Given the description of an element on the screen output the (x, y) to click on. 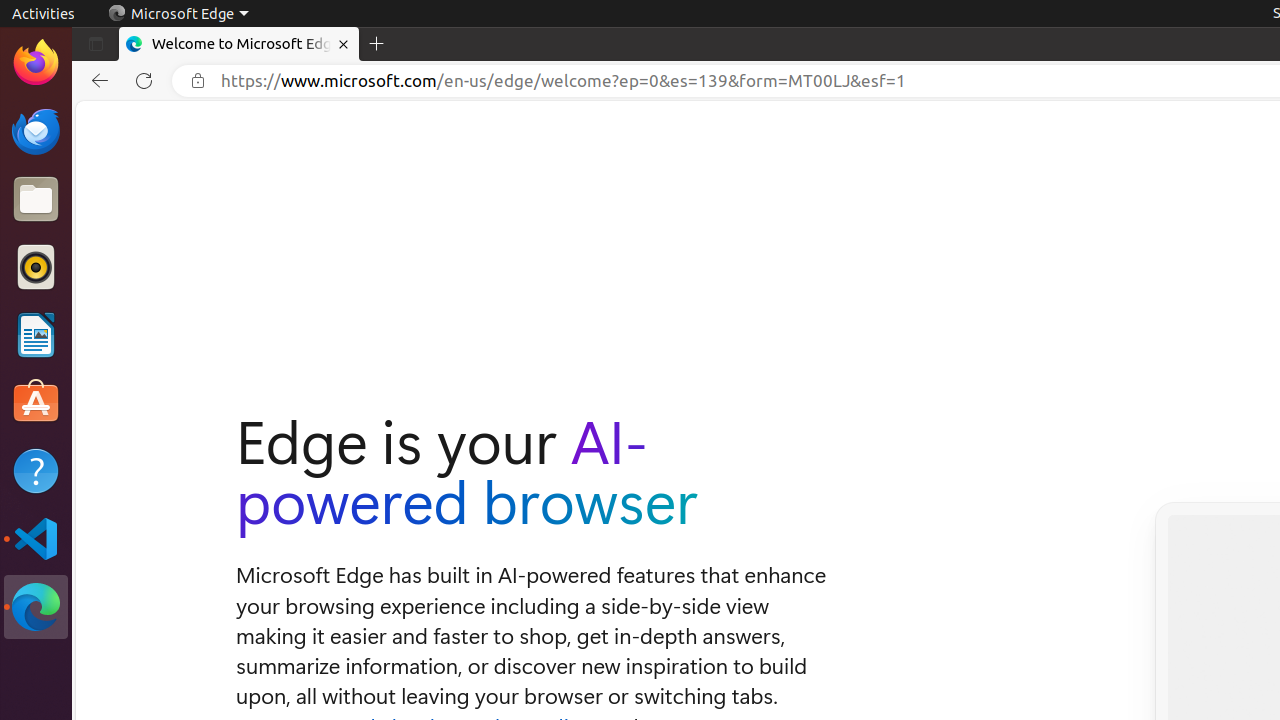
Close tab Element type: push-button (343, 44)
Help Element type: push-button (36, 470)
New Tab Element type: push-button (377, 44)
Tab actions menu Element type: push-button (96, 44)
Thunderbird Mail Element type: push-button (36, 131)
